Given the description of an element on the screen output the (x, y) to click on. 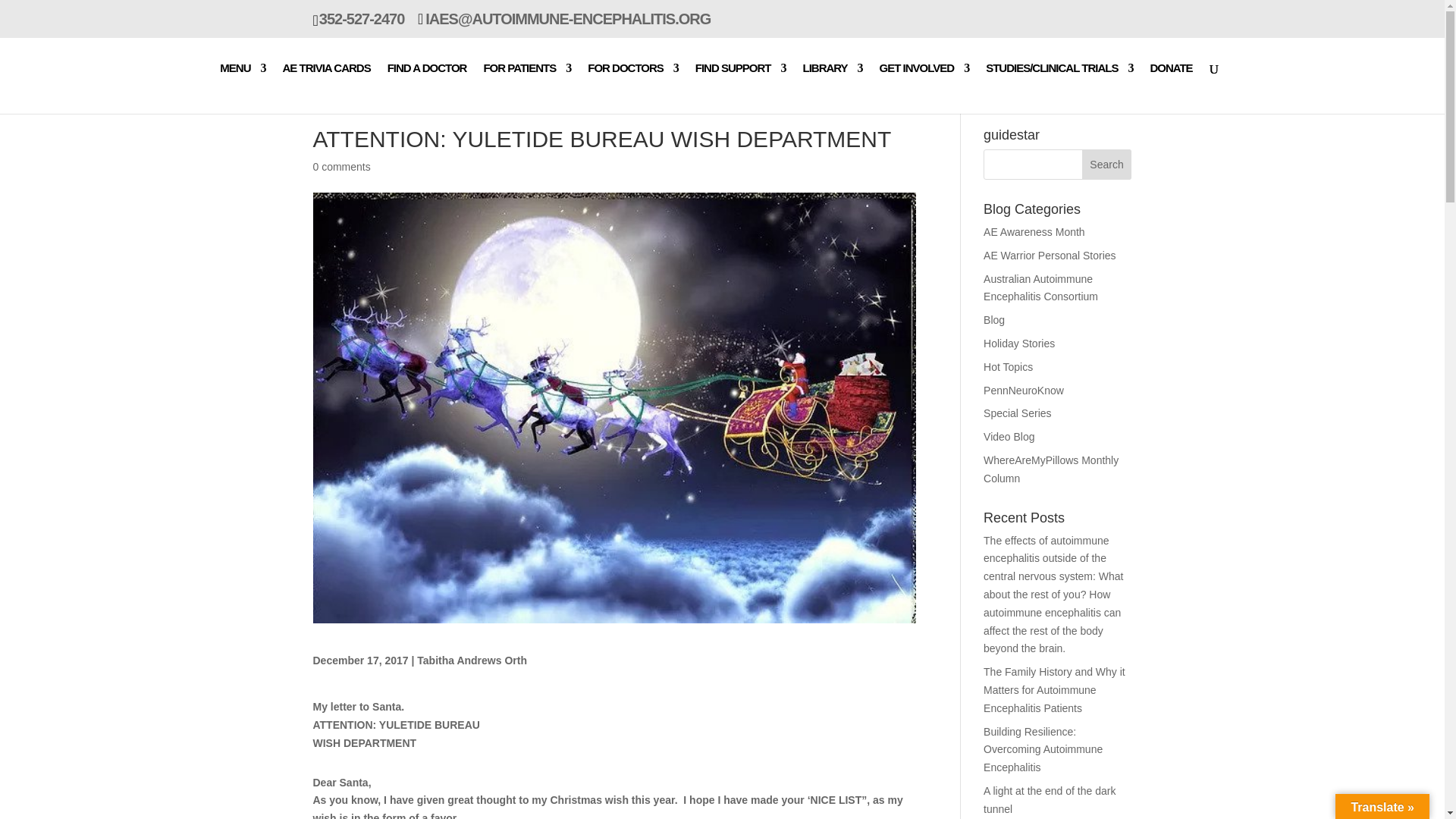
AE TRIVIA CARDS (326, 88)
FOR PATIENTS (526, 88)
FIND A DOCTOR (427, 88)
Search (1106, 164)
MENU (241, 88)
FOR DOCTORS (633, 88)
